Given the description of an element on the screen output the (x, y) to click on. 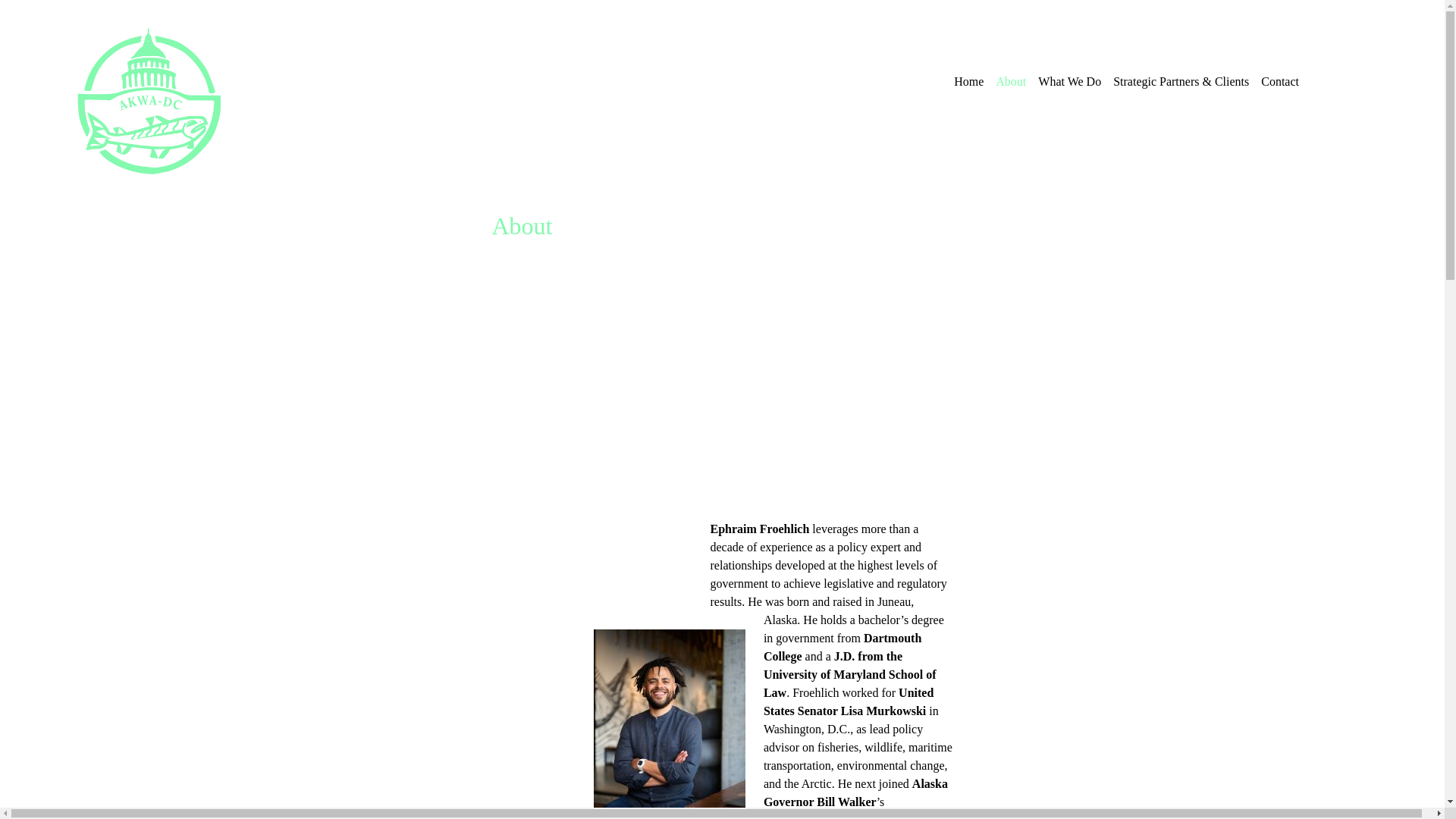
AKWA-DC (101, 228)
About (1010, 81)
What We Do (1069, 81)
Home (968, 81)
Contact (1279, 81)
